Given the description of an element on the screen output the (x, y) to click on. 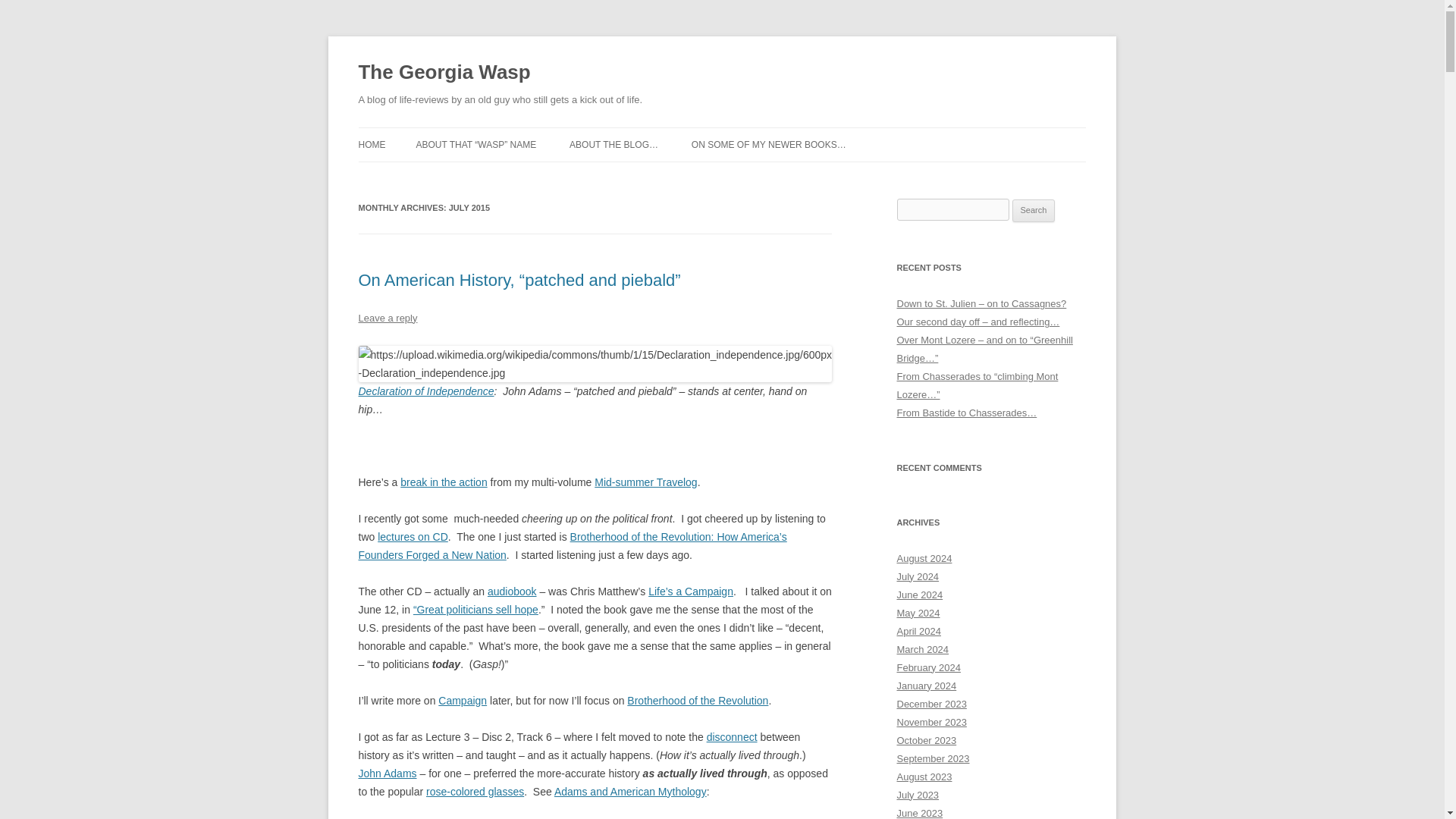
Skip to content (757, 132)
audiobook (512, 591)
John Adams (387, 773)
rose-colored glasses (475, 791)
The Georgia Wasp (443, 72)
Mid-summer Travelog (645, 481)
Leave a reply (387, 317)
Search (1033, 210)
Brotherhood of the Revolution (697, 700)
lectures on CD (412, 536)
